Given the description of an element on the screen output the (x, y) to click on. 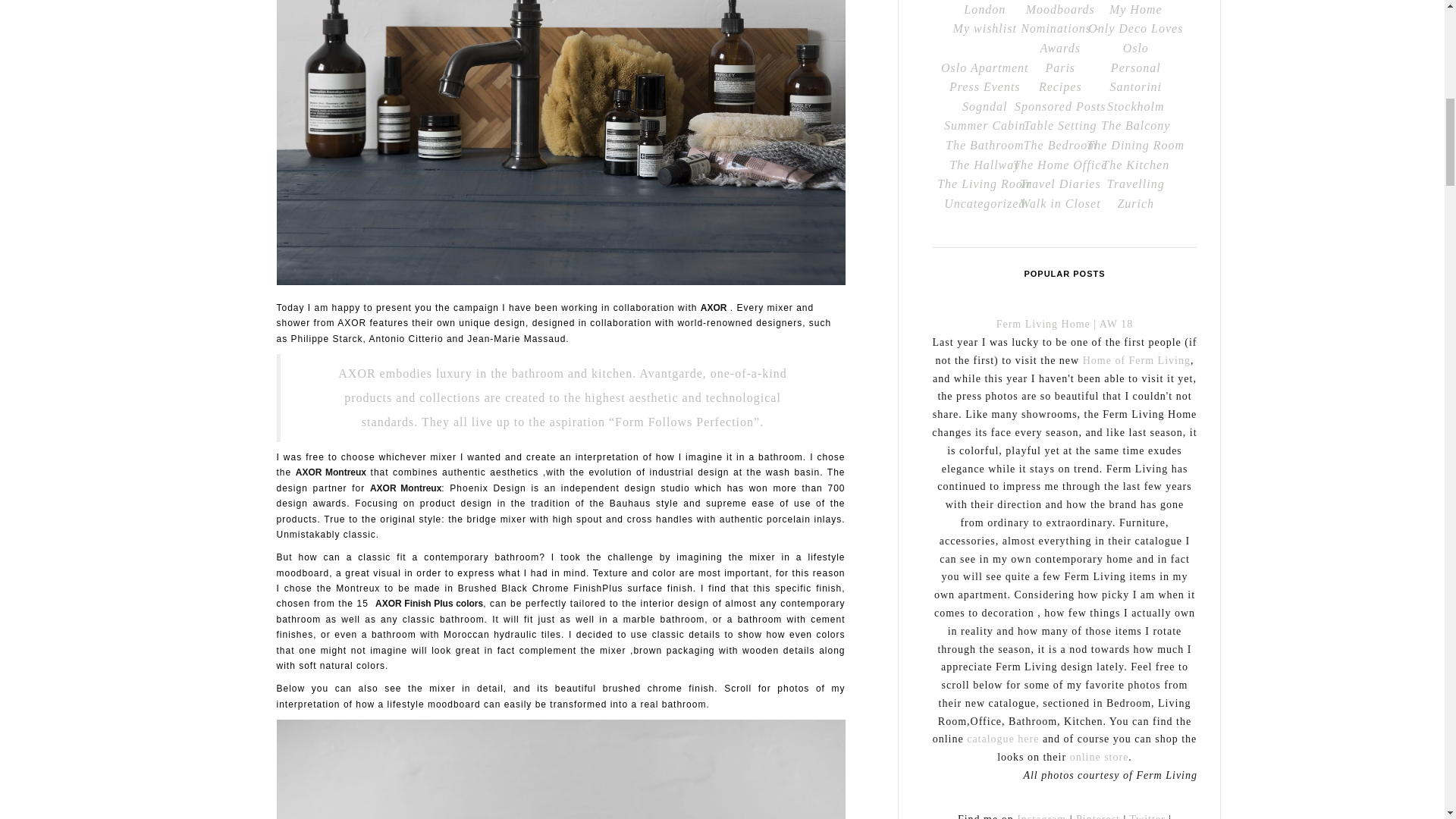
AXOR Montreux (405, 488)
AXOR Finish Plus colors (429, 603)
AXOR (713, 307)
AXOR Montreux (330, 471)
